Given the description of an element on the screen output the (x, y) to click on. 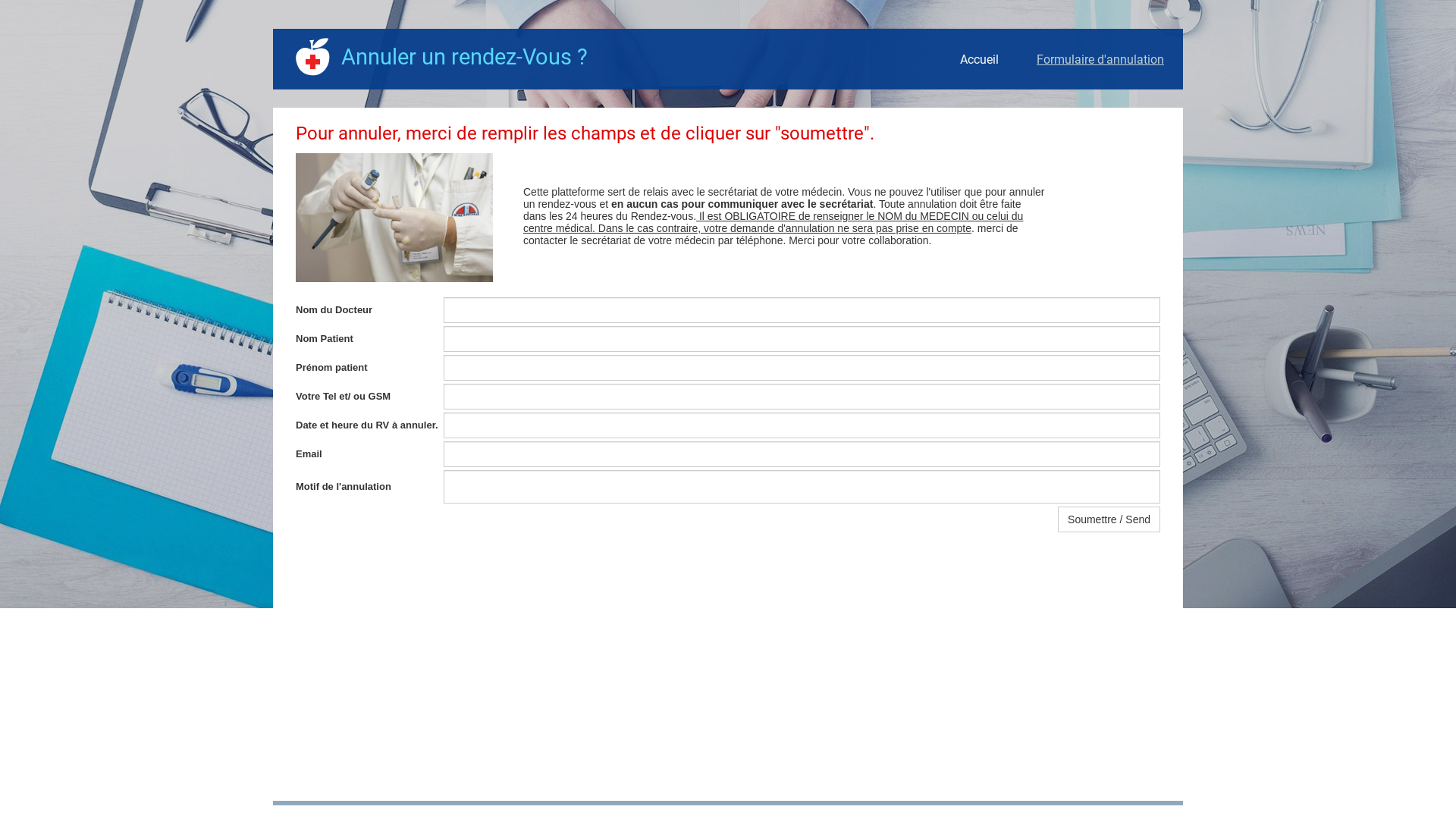
Soumettre / Send Element type: text (1108, 519)
Accueil Element type: text (979, 59)
Formulaire d'annulation Element type: text (1100, 59)
